Given the description of an element on the screen output the (x, y) to click on. 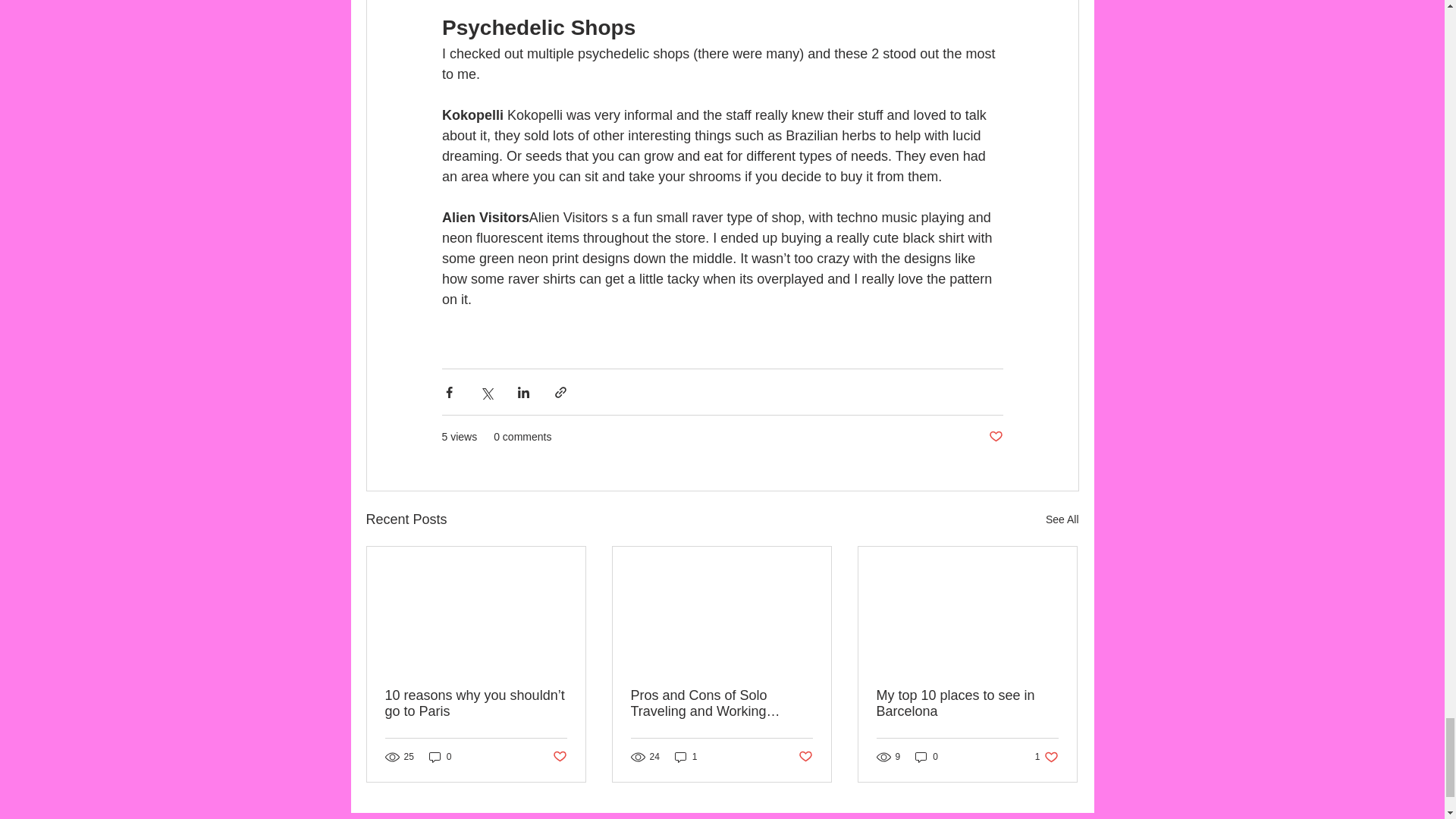
Post not marked as liked (995, 437)
1 (685, 757)
Post not marked as liked (804, 756)
See All (1046, 757)
0 (1061, 519)
My top 10 places to see in Barcelona (926, 757)
0 (967, 703)
Pros and Cons of Solo Traveling and Working remotely (440, 757)
Post not marked as liked (721, 703)
